Given the description of an element on the screen output the (x, y) to click on. 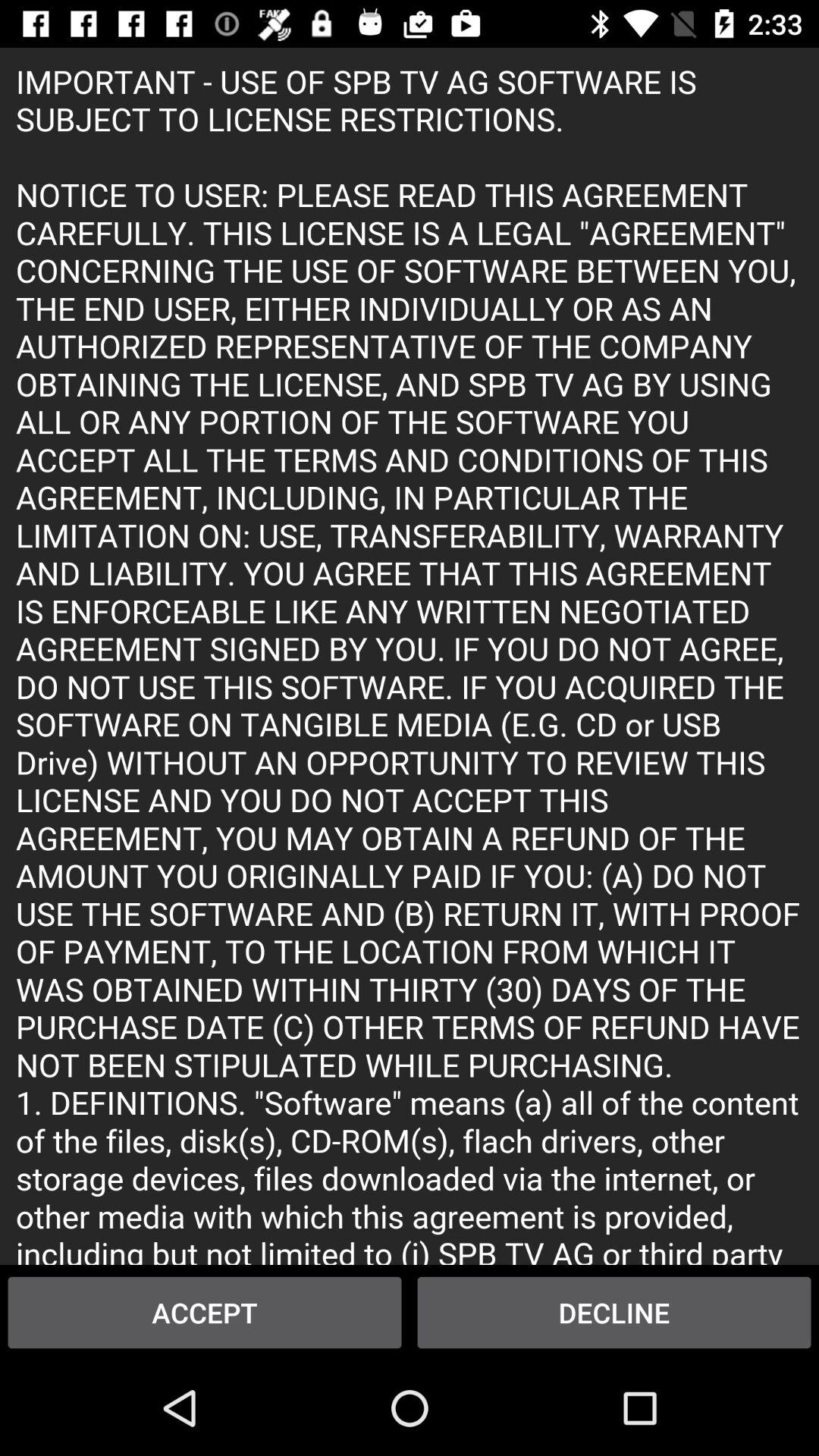
open decline at the bottom right corner (614, 1312)
